Given the description of an element on the screen output the (x, y) to click on. 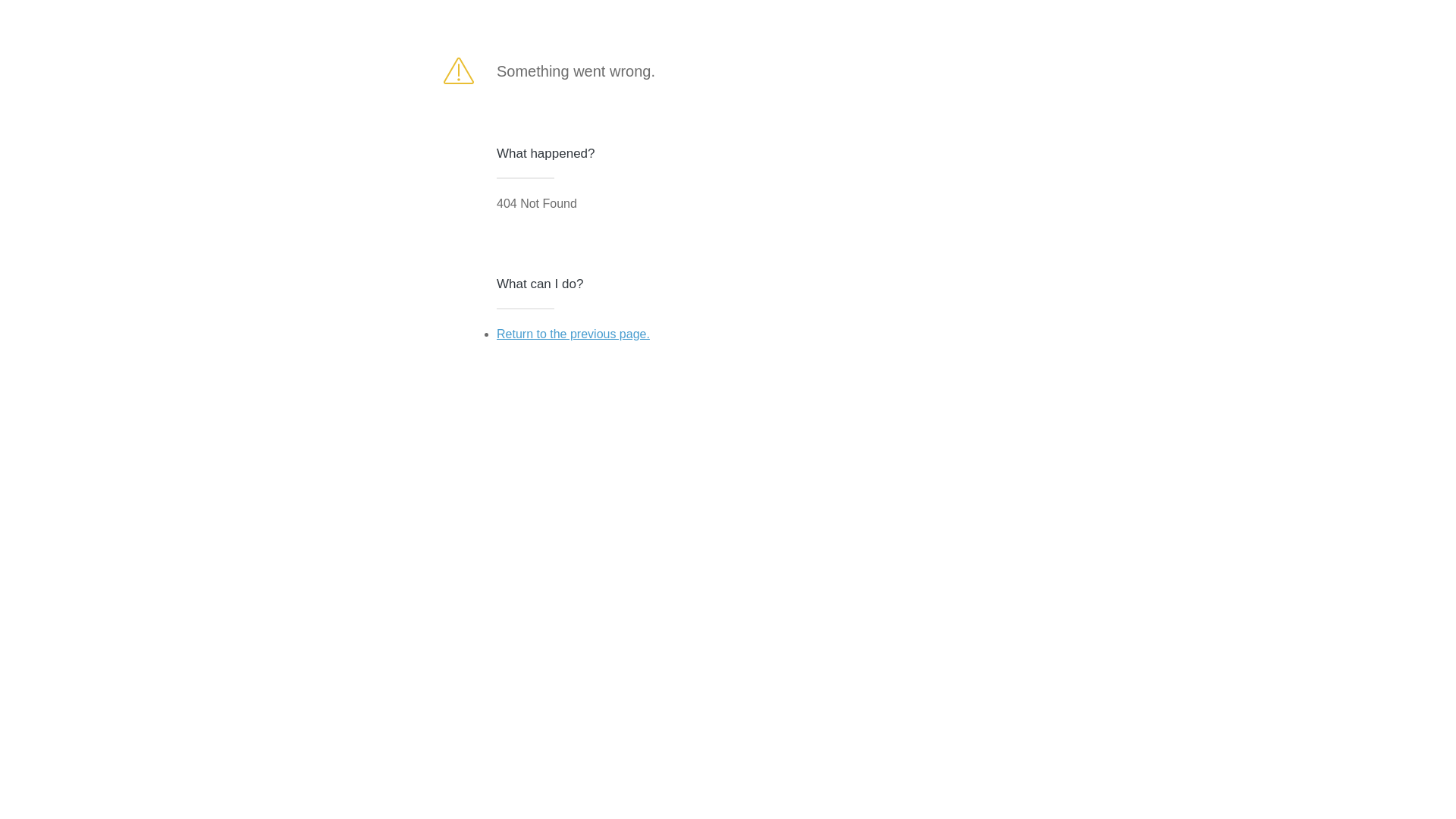
Return to the previous page. Element type: text (572, 333)
